Given the description of an element on the screen output the (x, y) to click on. 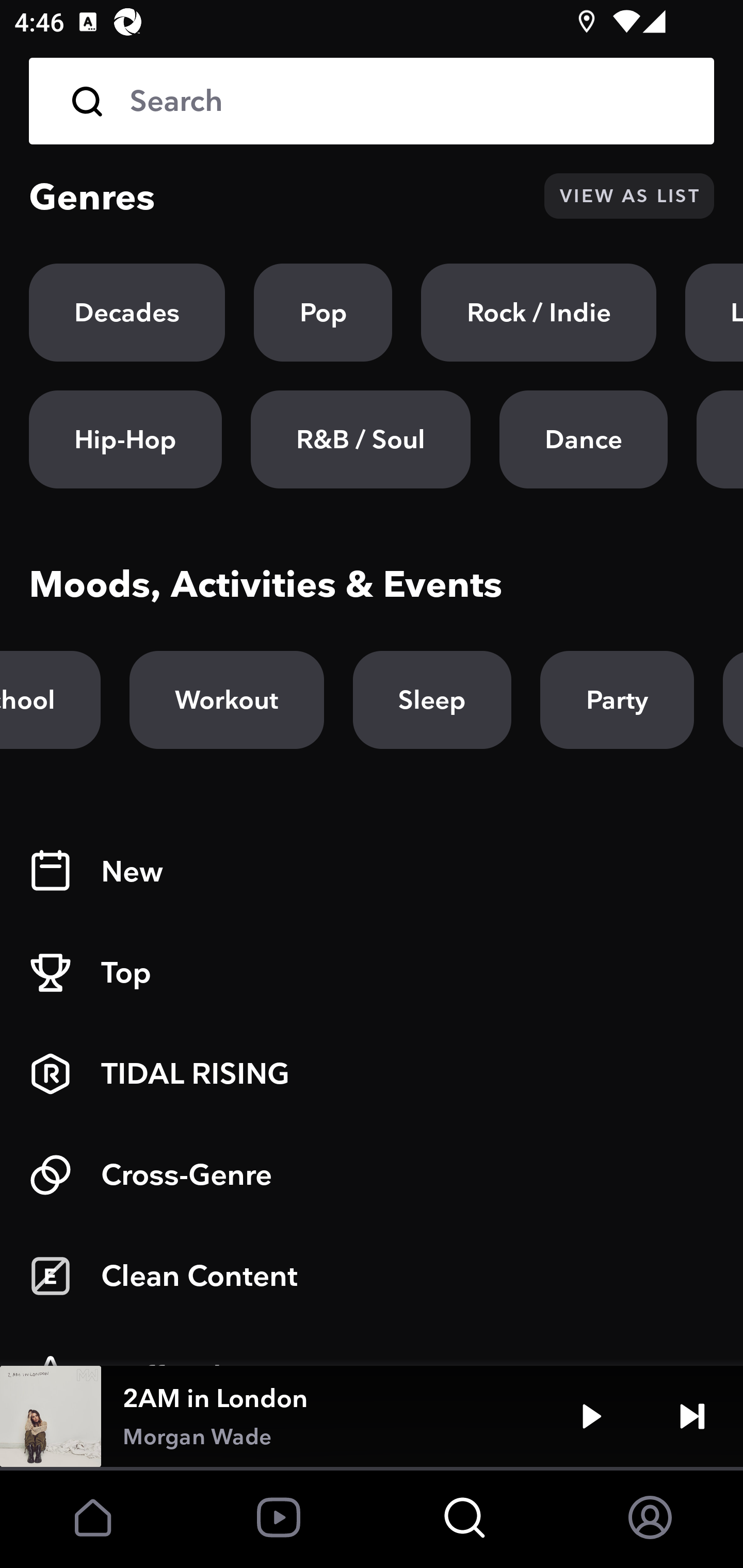
Search (371, 101)
Search (407, 100)
VIEW AS LIST (629, 195)
Decades (126, 312)
Pop (323, 312)
Rock / Indie (538, 312)
Hip-Hop (125, 439)
R&B / Soul (360, 439)
Dance (583, 439)
Music School (50, 699)
Workout (226, 699)
Sleep (431, 699)
Party (616, 699)
New (371, 871)
Top (371, 972)
TIDAL RISING (371, 1073)
Cross-Genre (371, 1175)
Clean Content (371, 1276)
2AM in London Morgan Wade Play (371, 1416)
Play (590, 1416)
